Given the description of an element on the screen output the (x, y) to click on. 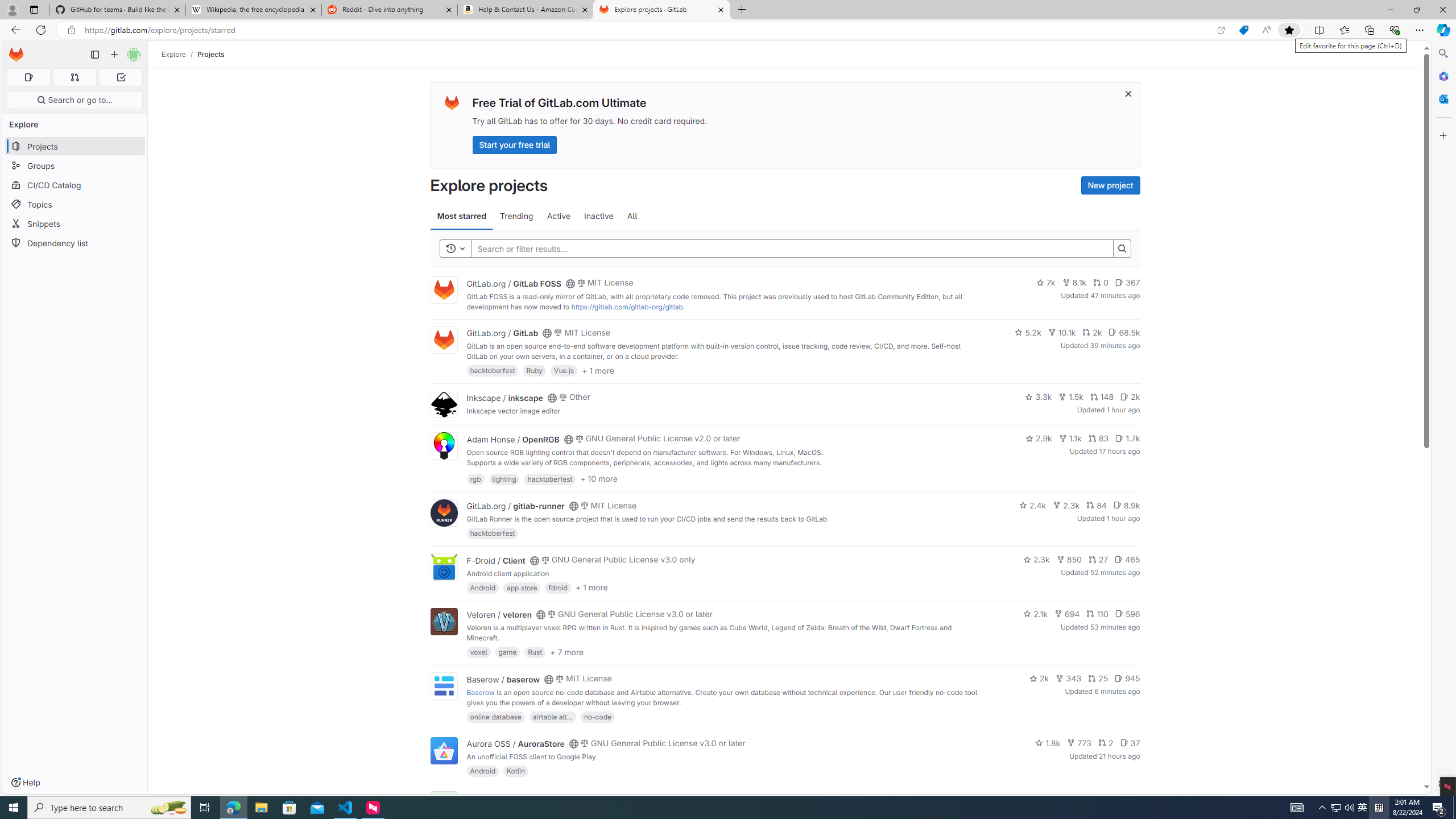
2k (1039, 678)
1 (1111, 797)
773 (1079, 742)
6 (1132, 797)
367 (1127, 282)
Class: project (443, 750)
1.4k (1054, 797)
8.1k (1073, 282)
110 (1097, 613)
Projects (211, 53)
